Given the description of an element on the screen output the (x, y) to click on. 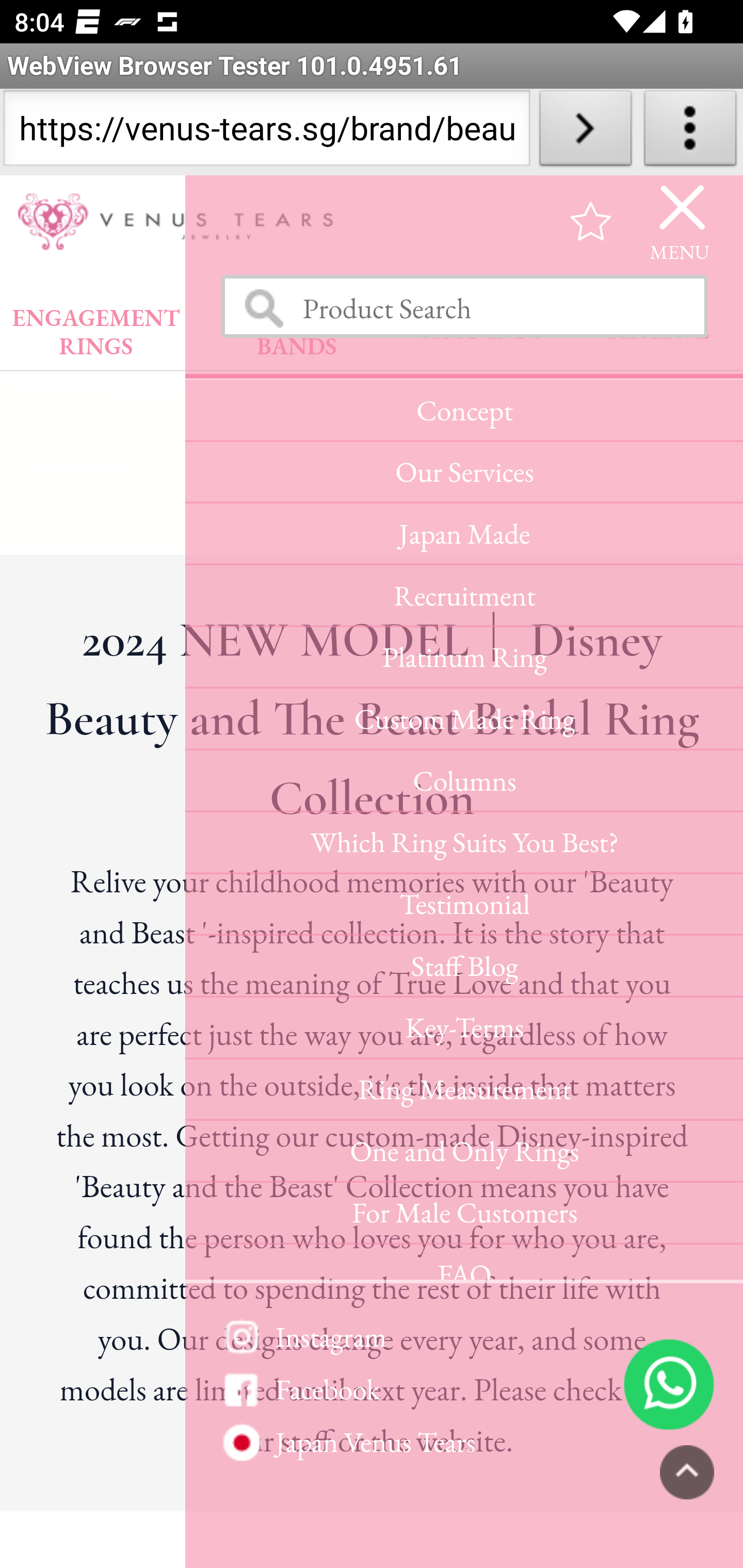
Load URL (585, 132)
About WebView (690, 132)
favourite (591, 223)
MENU (680, 223)
Concept (463, 412)
Our Services (463, 475)
Japan Made (463, 536)
Recruitment (463, 598)
Platinum Ring (463, 659)
Custom Made Ring (463, 720)
Columns (463, 782)
Which Ring Suits You Best? (463, 845)
Testimonial (463, 906)
Staff Blog (463, 968)
Key-Terms (463, 1029)
Ring Measurement (463, 1090)
One and Only Rings (463, 1152)
For Male Customers (463, 1215)
FAQ (463, 1264)
Instagram (463, 1337)
6585184875 (668, 1385)
Facebook (463, 1390)
Japan Venus Tears (463, 1442)
PAGETOP (686, 1473)
